Given the description of an element on the screen output the (x, y) to click on. 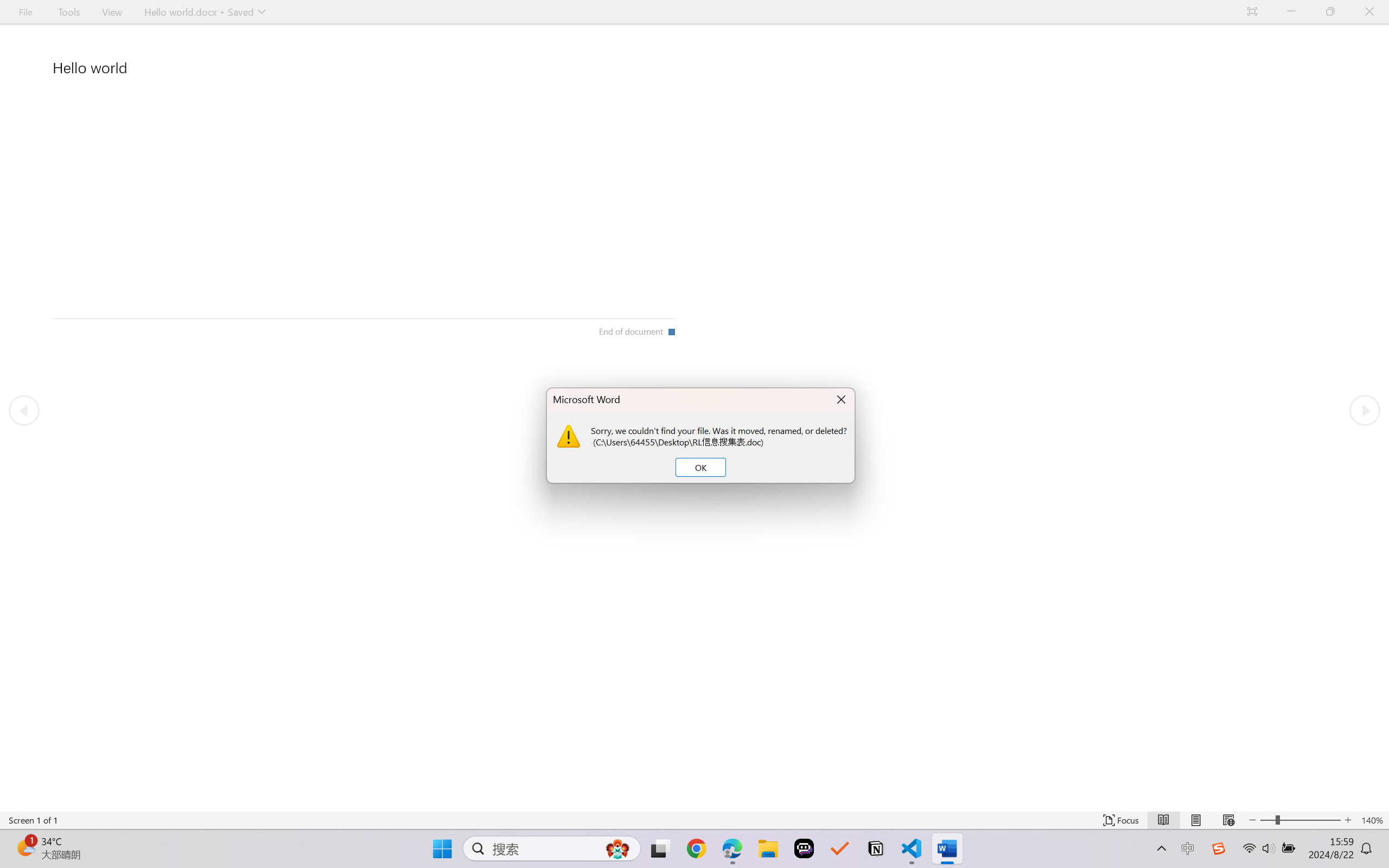
Decrease Text Size (1252, 819)
Web Layout (1228, 819)
Text Size (1300, 819)
View (112, 11)
